Given the description of an element on the screen output the (x, y) to click on. 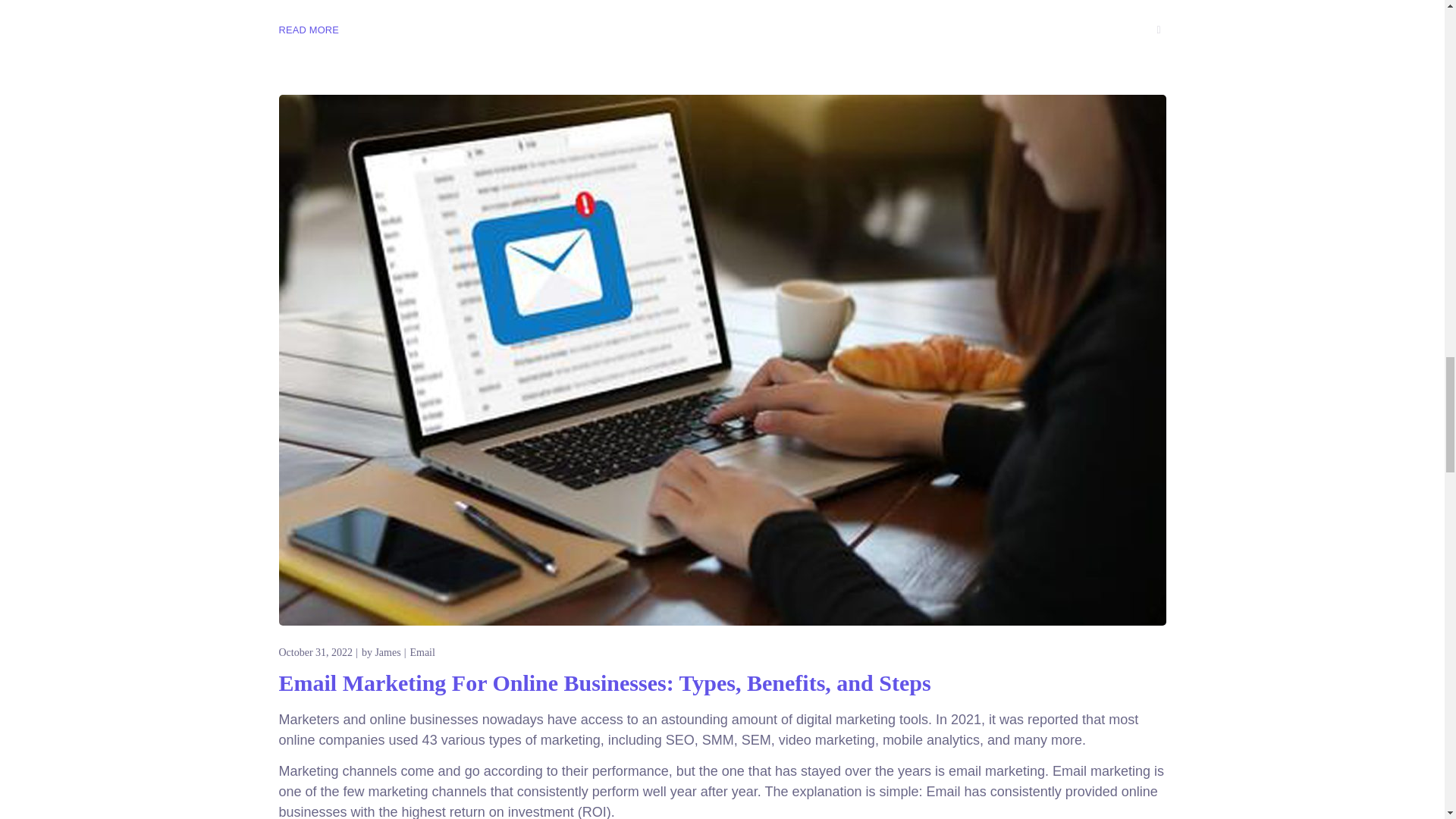
James (387, 652)
Email (421, 652)
READ MORE (309, 29)
